Given the description of an element on the screen output the (x, y) to click on. 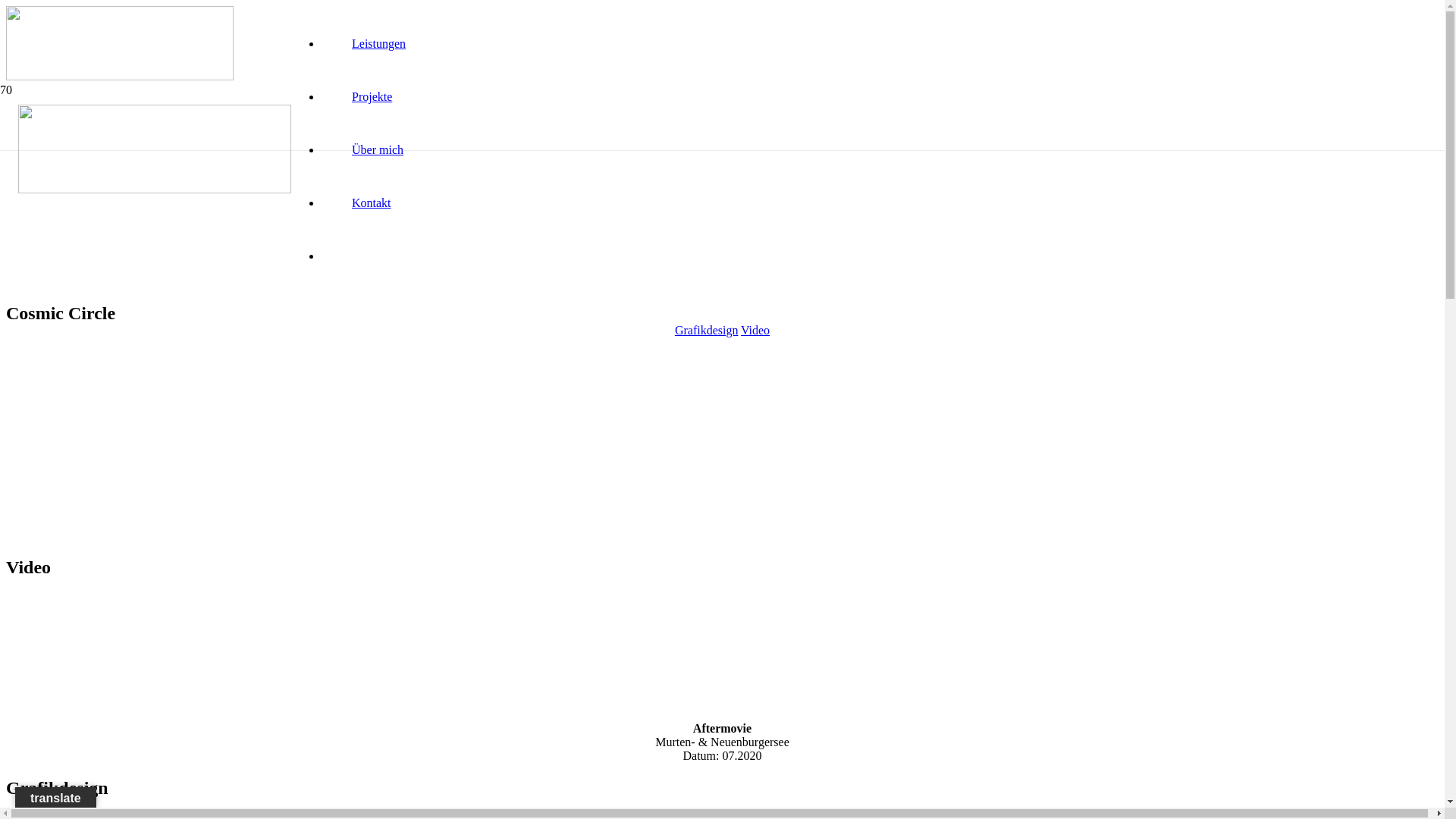
Vimeo video player Element type: hover (119, 649)
Projekte Element type: text (371, 96)
Video Element type: text (754, 329)
Kontakt Element type: text (371, 202)
Grafikdesign Element type: text (706, 329)
Leistungen Element type: text (378, 43)
